Given the description of an element on the screen output the (x, y) to click on. 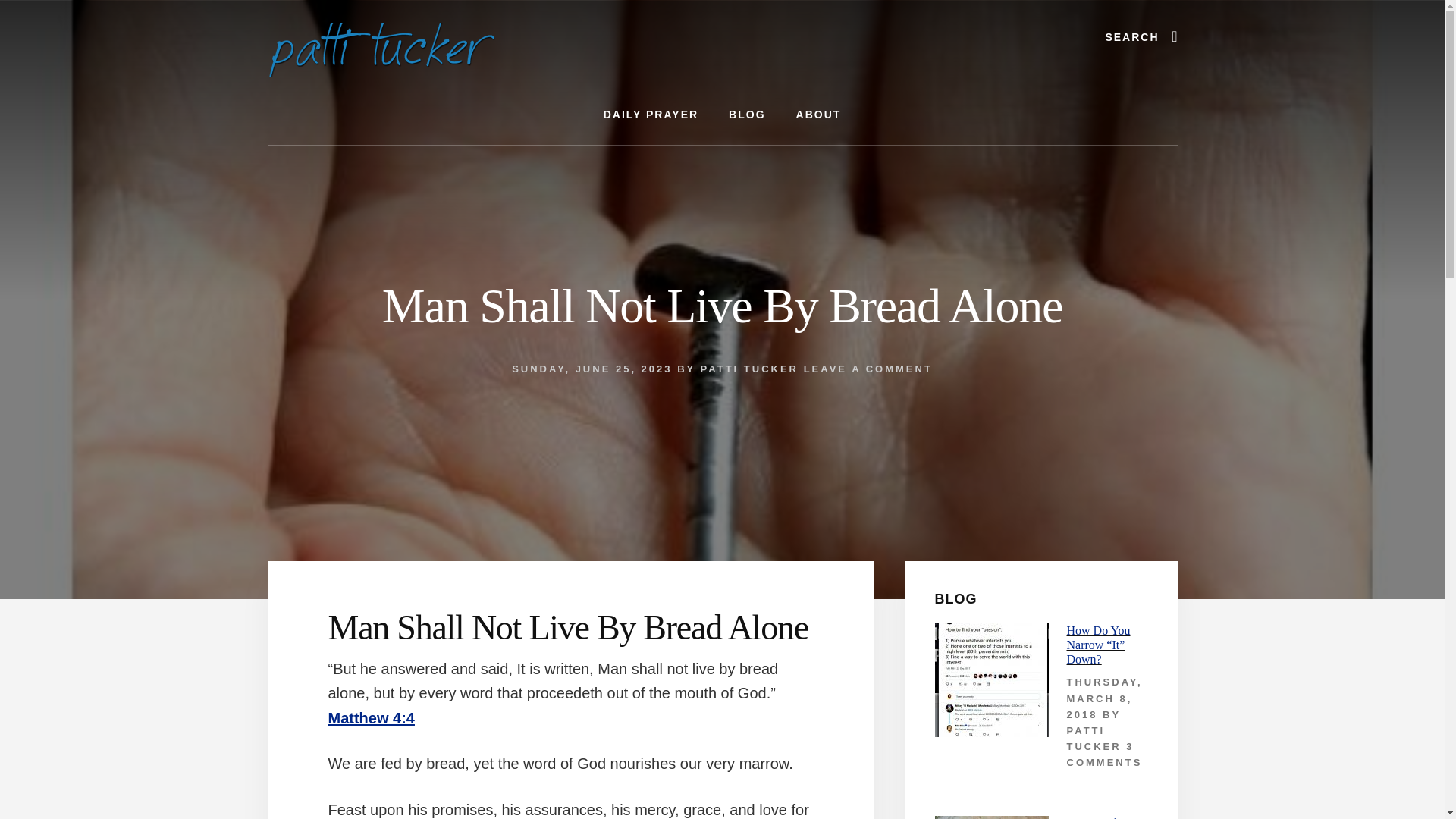
LEAVE A COMMENT (868, 368)
PATTI TUCKER (1093, 738)
DAILY PRAYER (650, 114)
3 COMMENTS (1103, 754)
PATTI TUCKER (748, 368)
BLOG (746, 114)
Matthew 4:4 (370, 718)
Jesus Saith Unto Him, I Am The Way, The Truth, And The Life (1105, 817)
ABOUT (818, 114)
